Given the description of an element on the screen output the (x, y) to click on. 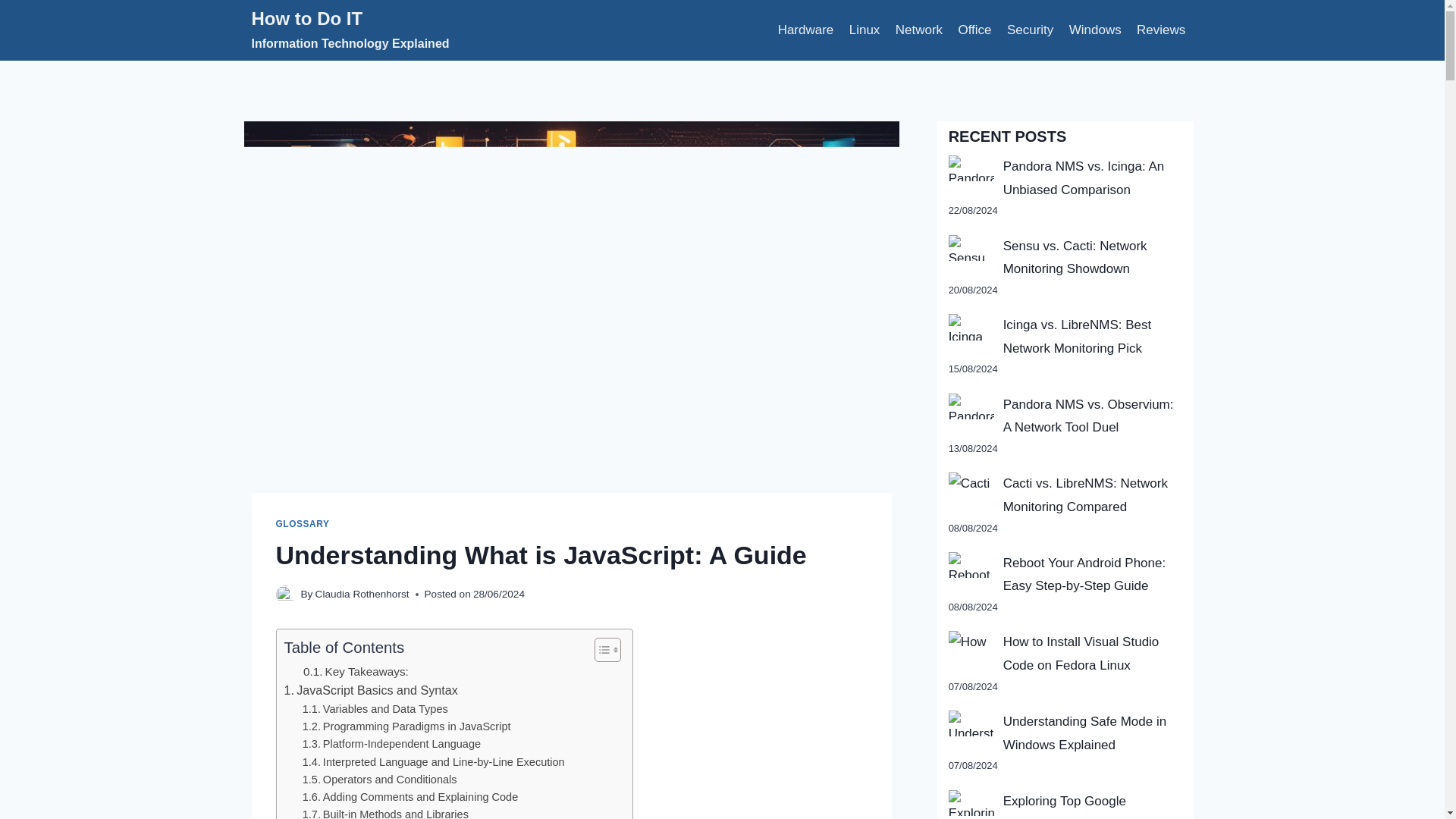
Programming Paradigms in JavaScript (406, 726)
Platform-Independent Language (391, 743)
Built-in Methods and Libraries (385, 812)
Security (1029, 30)
Reviews (1161, 30)
Network (919, 30)
Interpreted Language and Line-by-Line Execution (433, 762)
Office (974, 30)
Variables and Data Types (375, 709)
